Given the description of an element on the screen output the (x, y) to click on. 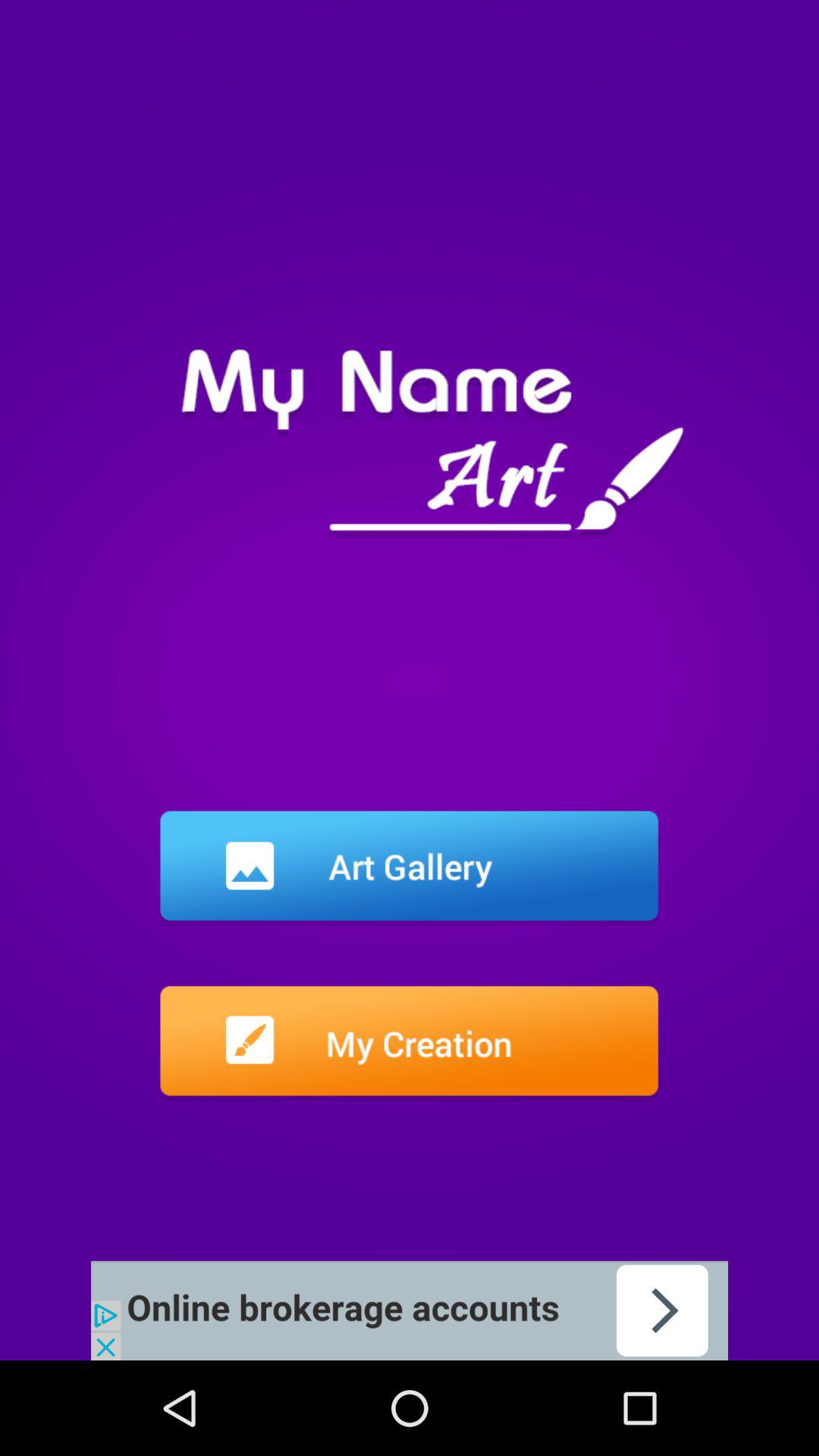
enter into the file (409, 1043)
